Given the description of an element on the screen output the (x, y) to click on. 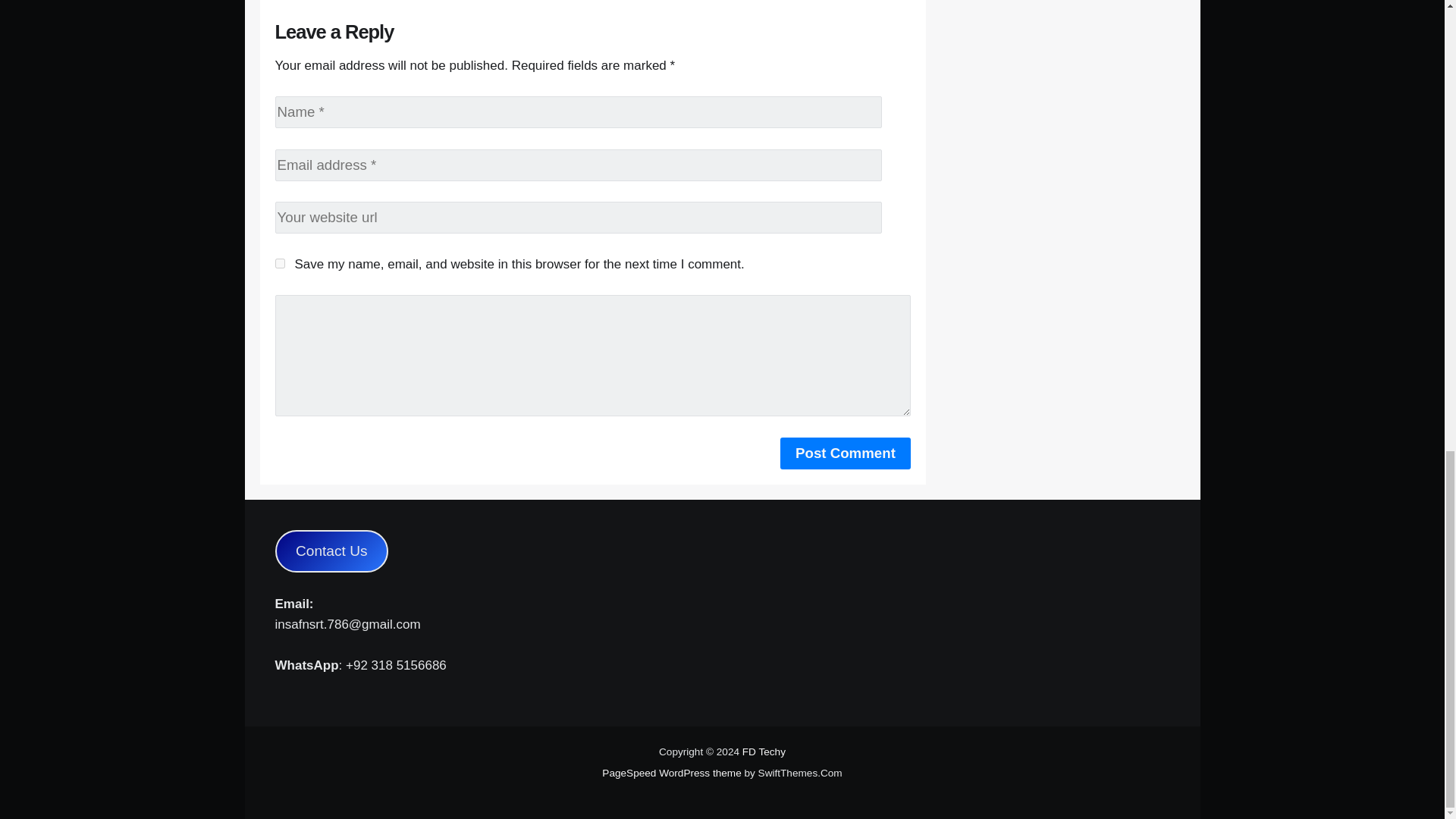
FD Techy (764, 751)
yes (279, 263)
Contact Us (331, 551)
Fast and lite weight WP themes (671, 772)
PageSpeed WordPress theme (671, 772)
Post Comment (845, 453)
Post Comment (845, 453)
